Given the description of an element on the screen output the (x, y) to click on. 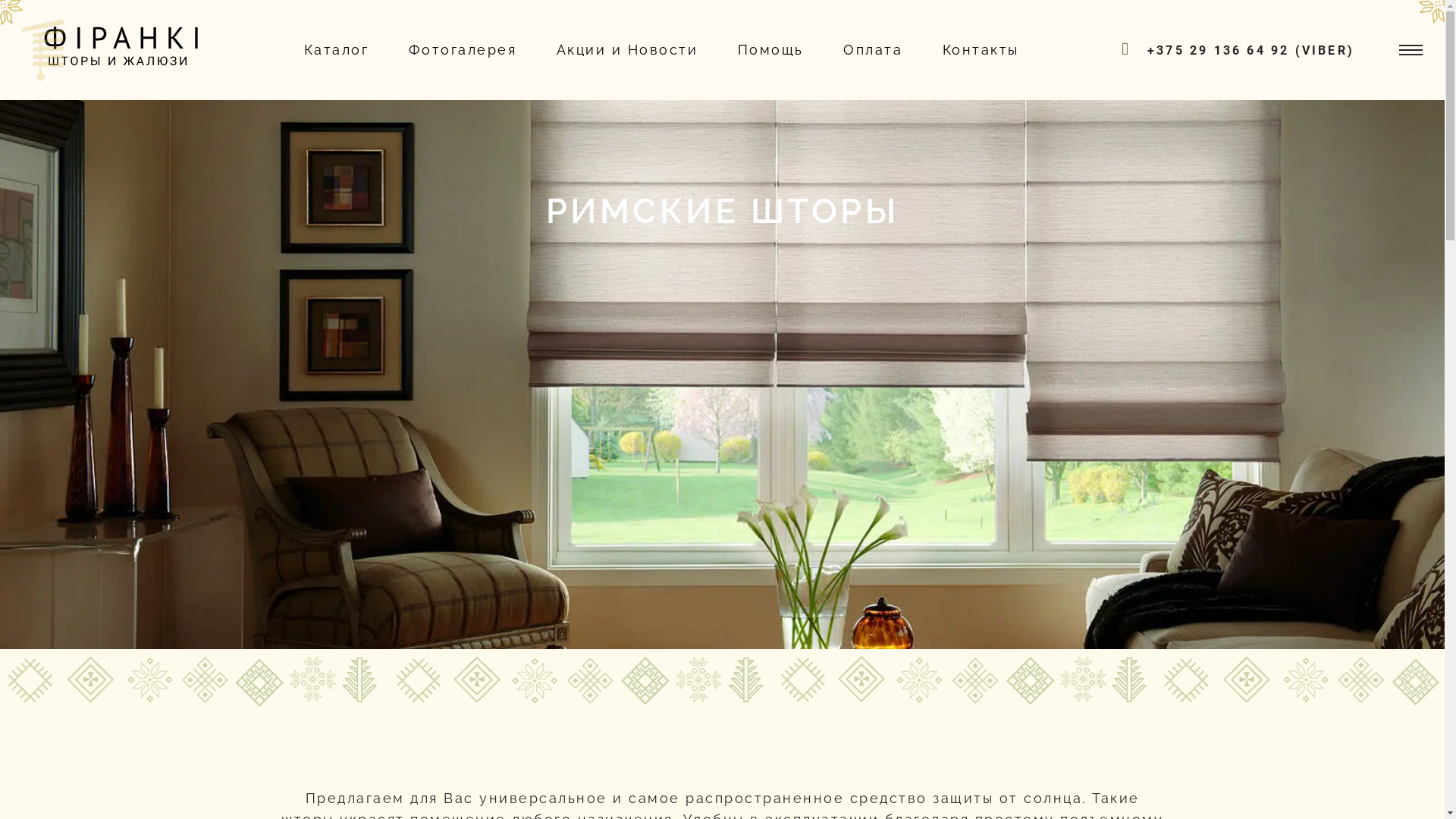
+375 29 136 64 92 (VIBER) Element type: text (1250, 50)
